Given the description of an element on the screen output the (x, y) to click on. 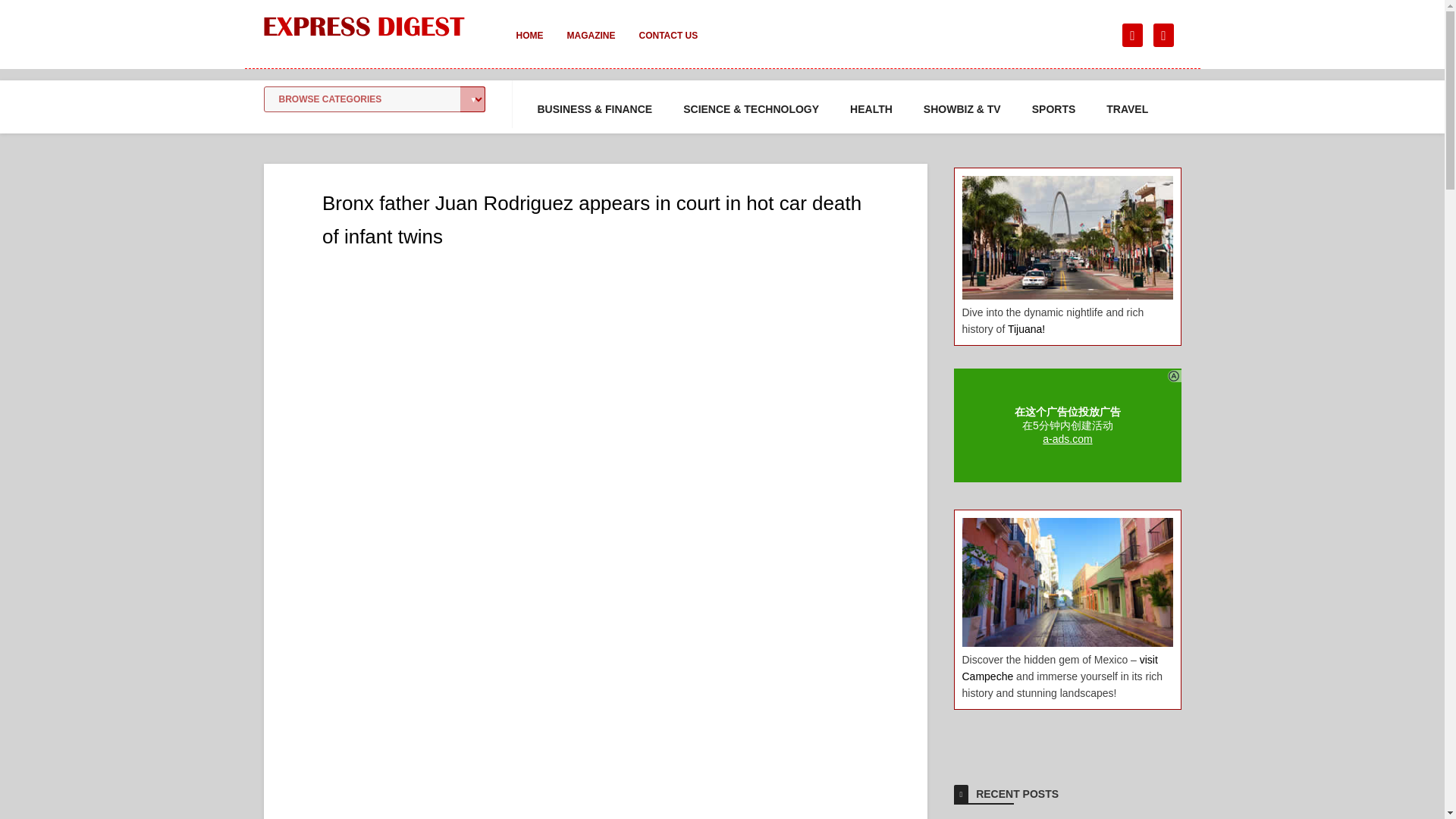
CONTACT US (667, 45)
visit Campeche (1058, 667)
TRAVEL (1127, 109)
Tijuana! (1026, 328)
HEALTH (871, 109)
MAGAZINE (590, 45)
SPORTS (1053, 109)
